Given the description of an element on the screen output the (x, y) to click on. 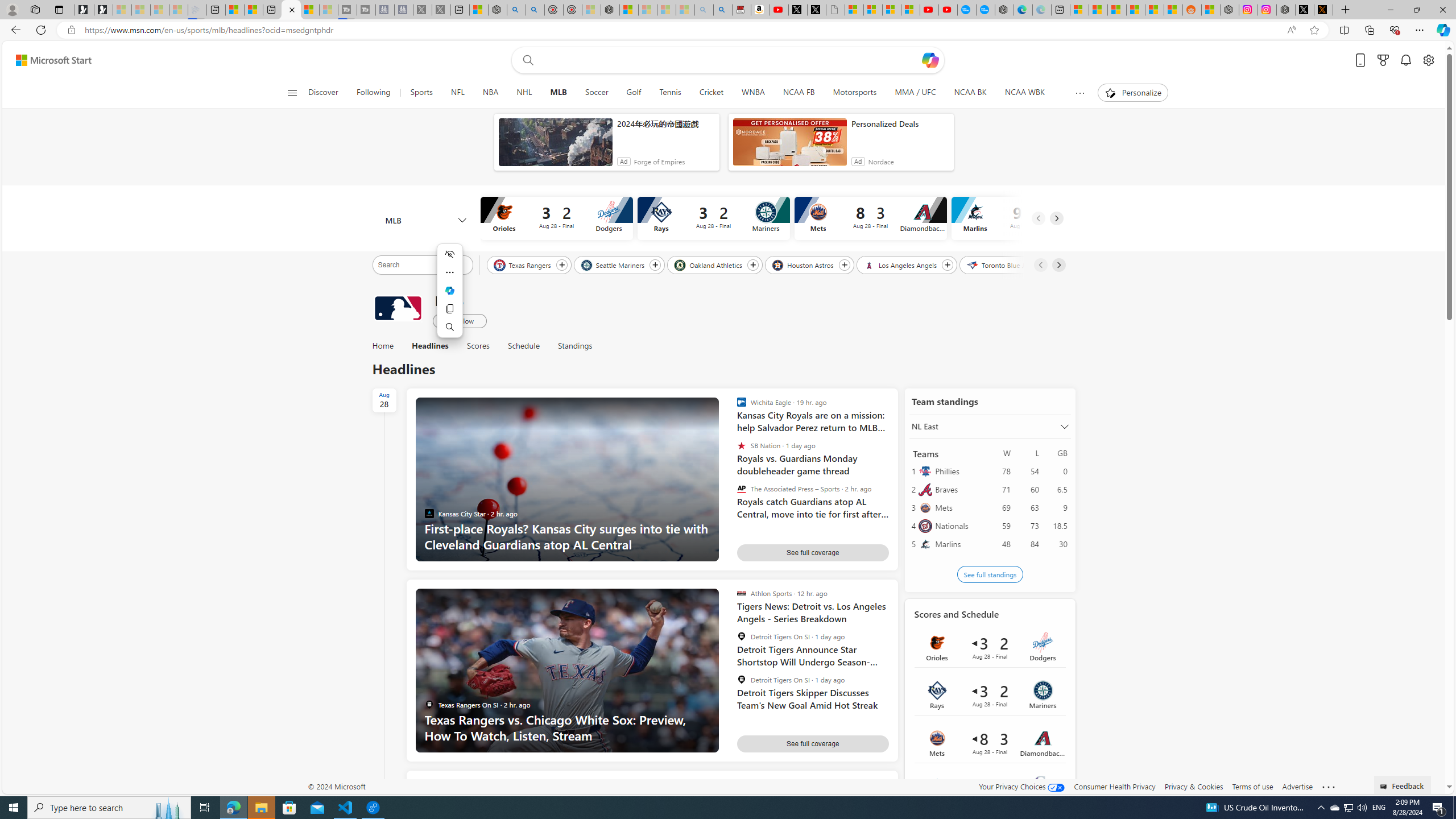
Web search (526, 60)
NCAA FB (799, 92)
Forge of Empires (658, 161)
Your Privacy Choices (1021, 785)
Standings (574, 345)
Mets (958, 507)
Soccer (596, 92)
Standings (570, 345)
